Given the description of an element on the screen output the (x, y) to click on. 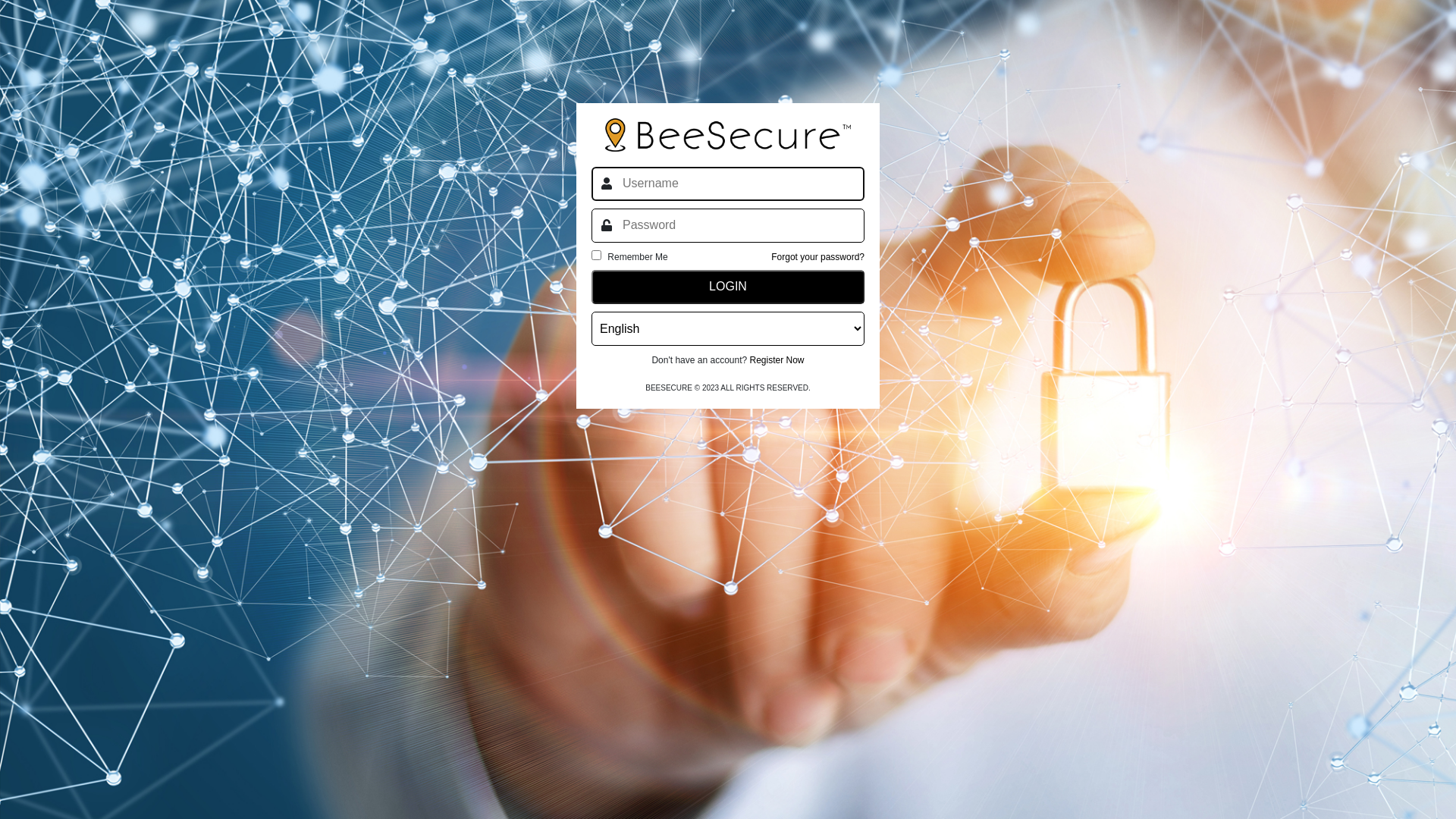
Forgot your password? Element type: text (817, 256)
Login Element type: text (727, 286)
Register Now Element type: text (776, 359)
